Given the description of an element on the screen output the (x, y) to click on. 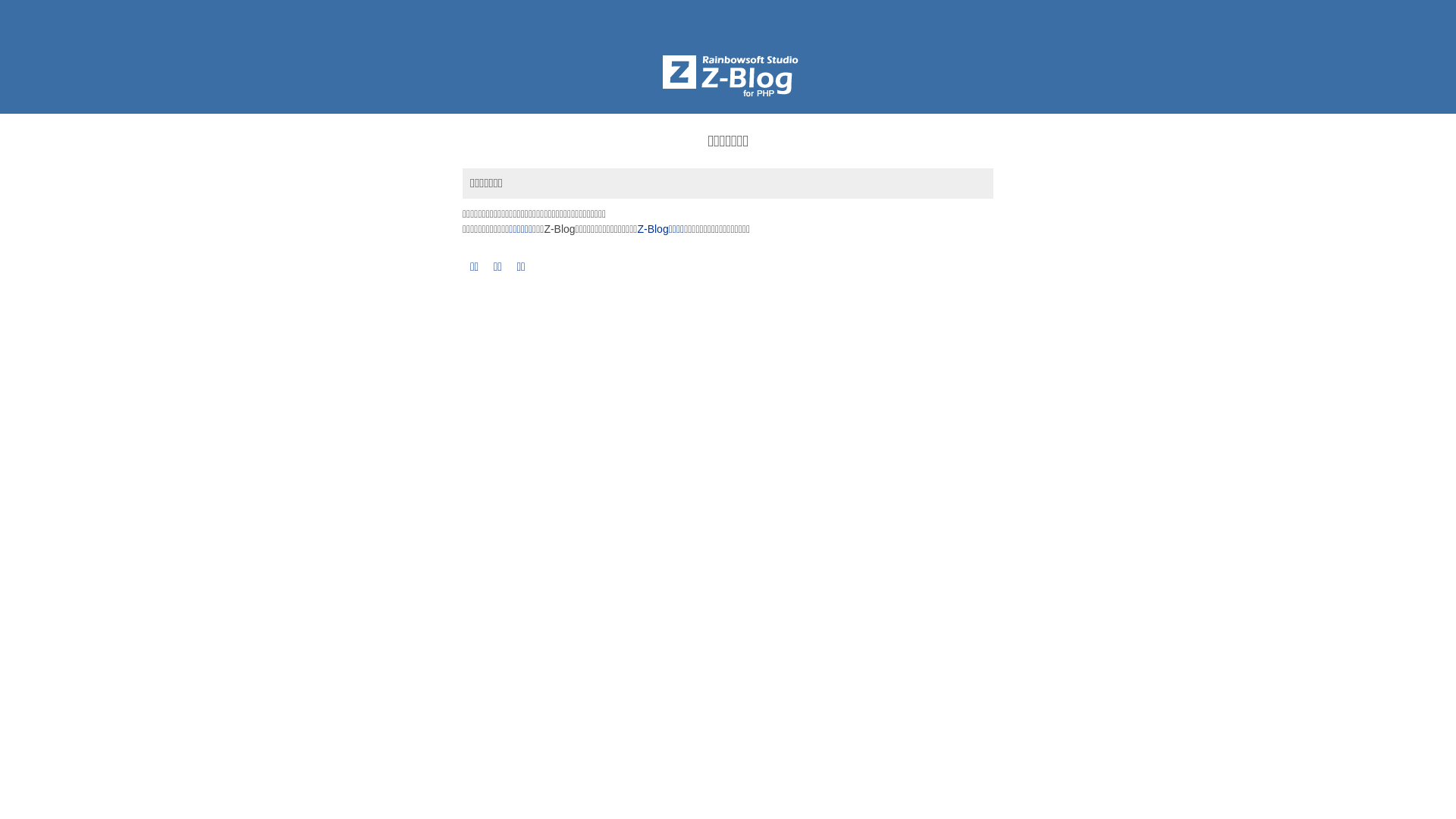
Z-BlogPHP Element type: hover (727, 71)
